Given the description of an element on the screen output the (x, y) to click on. 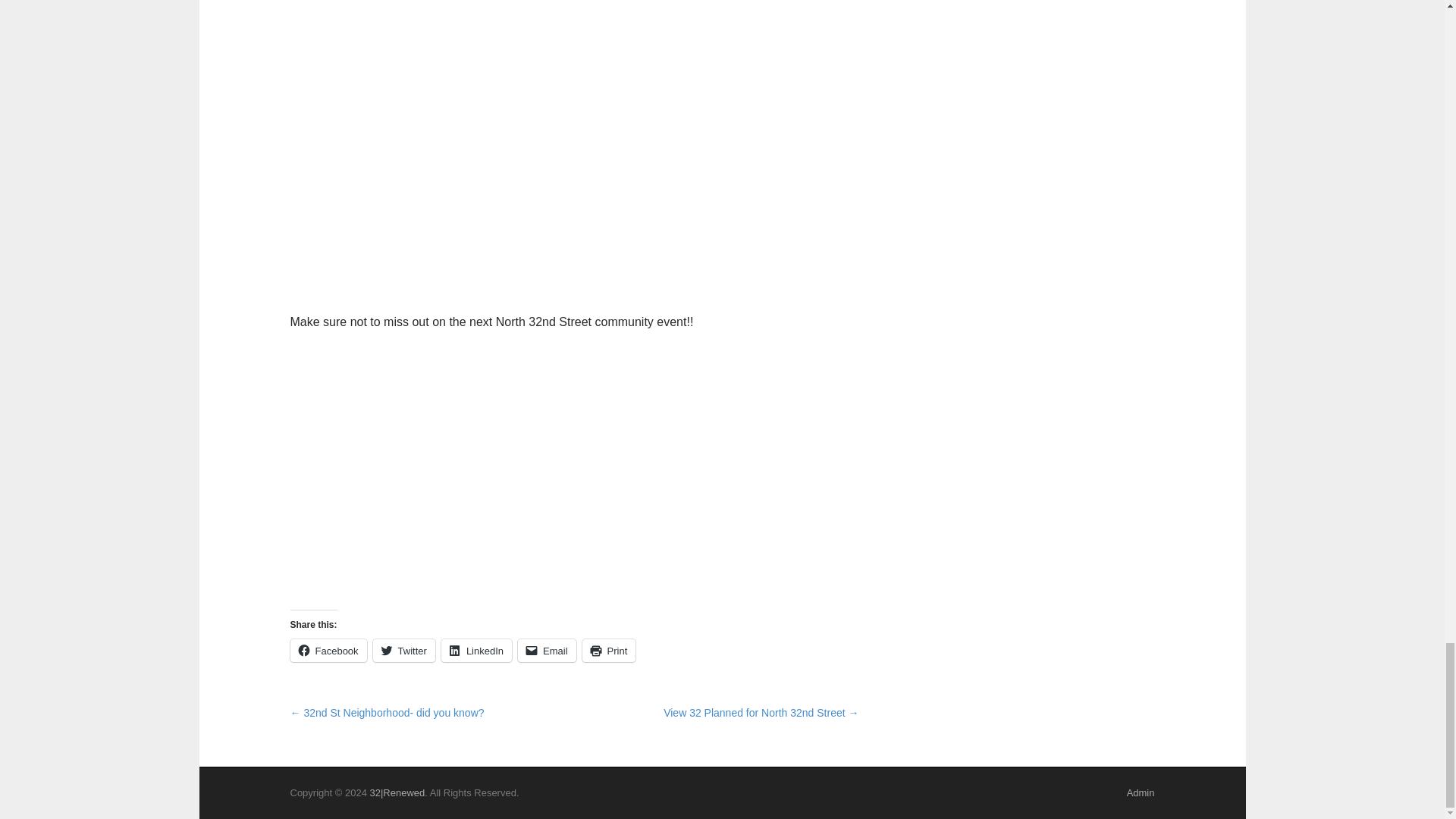
Email (547, 650)
Click to email a link to a friend (547, 650)
Click to share on Twitter (403, 650)
LinkedIn (476, 650)
Click to print (609, 650)
Click to share on Facebook (327, 650)
Click to share on LinkedIn (476, 650)
Facebook (327, 650)
Twitter (403, 650)
